Given the description of an element on the screen output the (x, y) to click on. 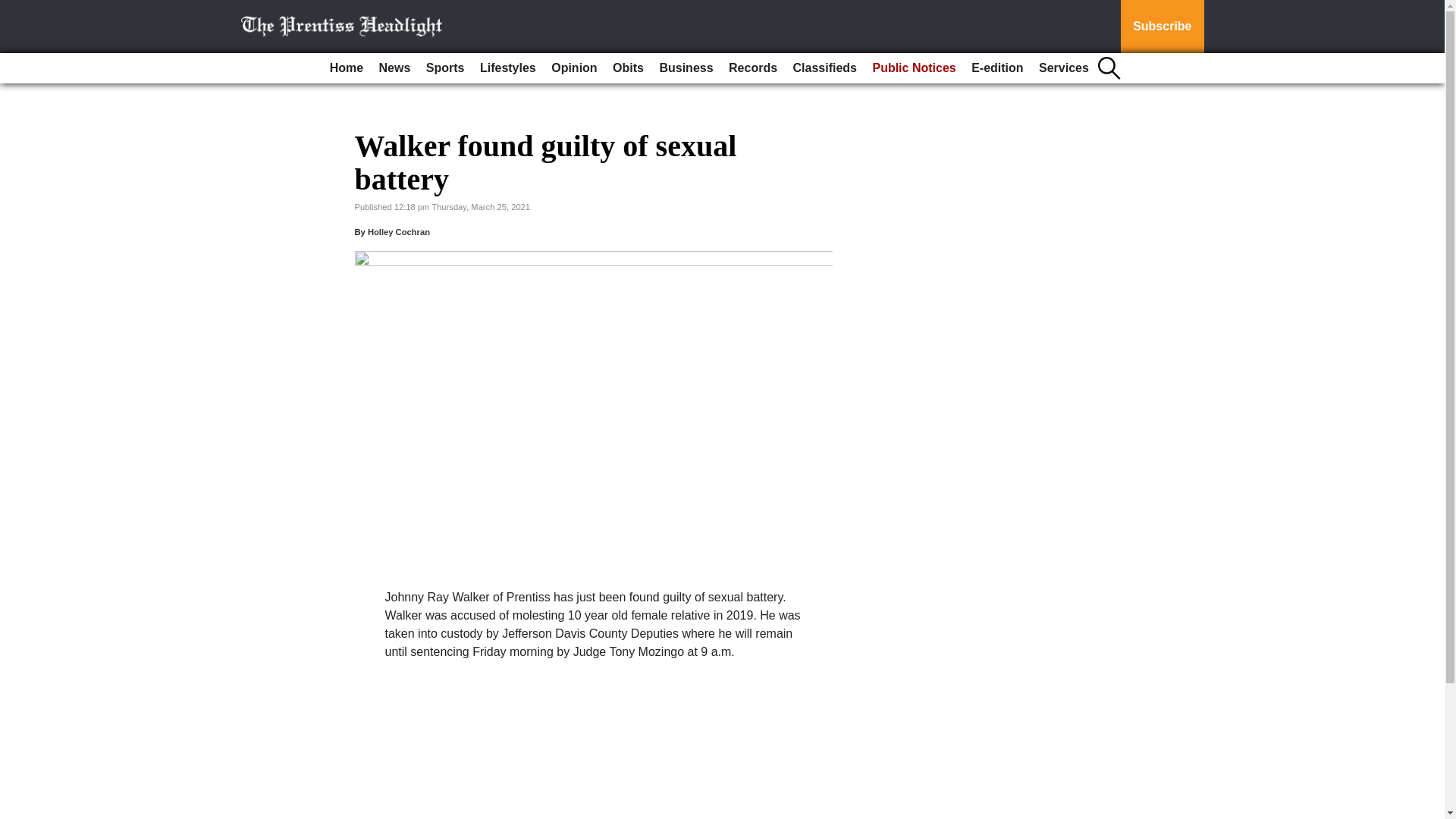
Obits (628, 68)
Go (13, 9)
Opinion (573, 68)
Classifieds (825, 68)
E-edition (997, 68)
Sports (445, 68)
News (394, 68)
Business (685, 68)
Holley Cochran (398, 231)
Home (346, 68)
Records (752, 68)
Public Notices (913, 68)
Subscribe (1162, 26)
Services (1063, 68)
Lifestyles (507, 68)
